Given the description of an element on the screen output the (x, y) to click on. 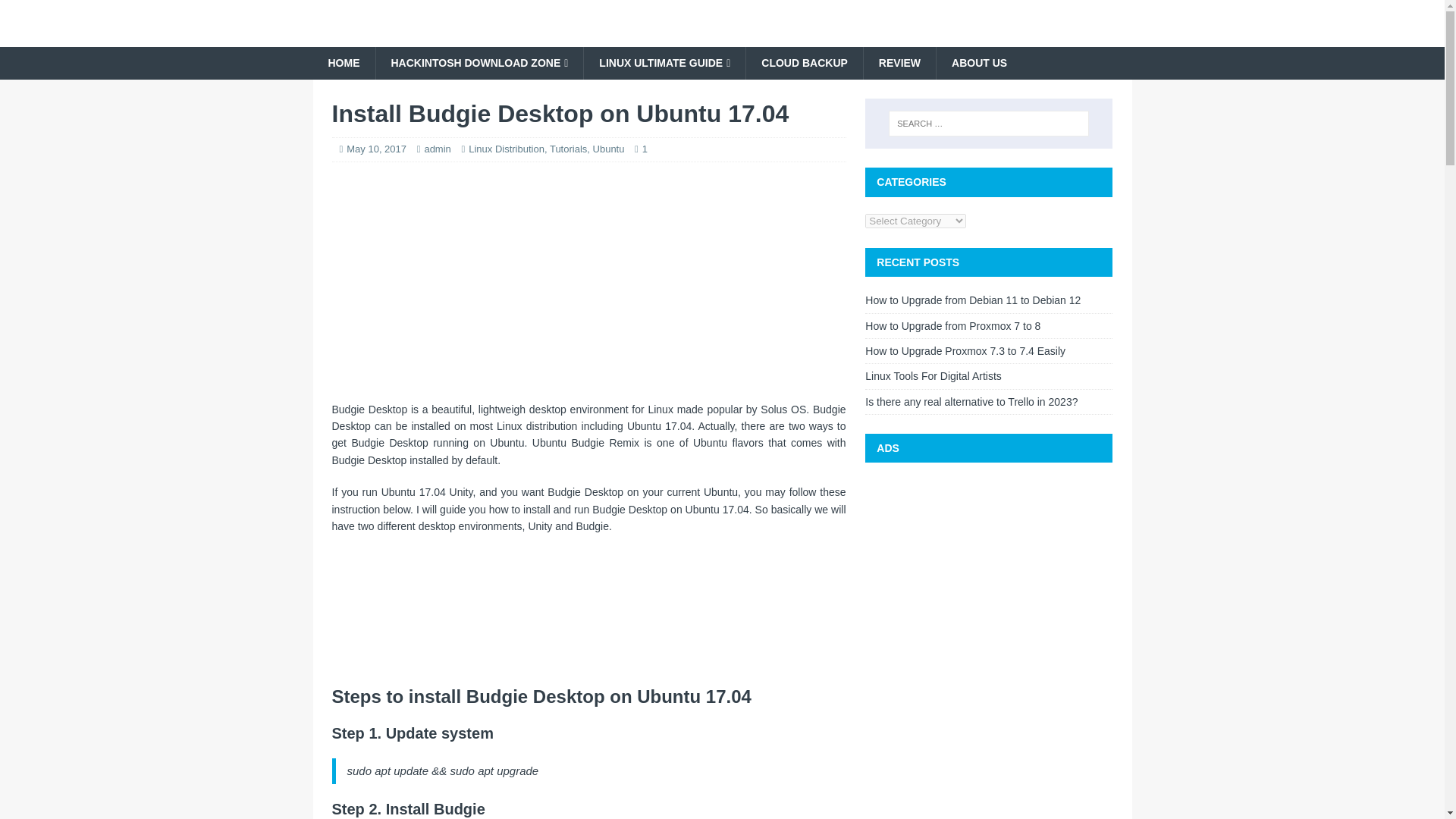
Linux Distribution (506, 148)
CLOUD BACKUP (804, 62)
Tutorials (568, 148)
LINUX ULTIMATE GUIDE (664, 62)
Ubuntu (608, 148)
How to Upgrade from Proxmox 7 to 8 (952, 326)
May 10, 2017 (376, 148)
HOME (343, 62)
admin (436, 148)
ABOUT US (979, 62)
